Given the description of an element on the screen output the (x, y) to click on. 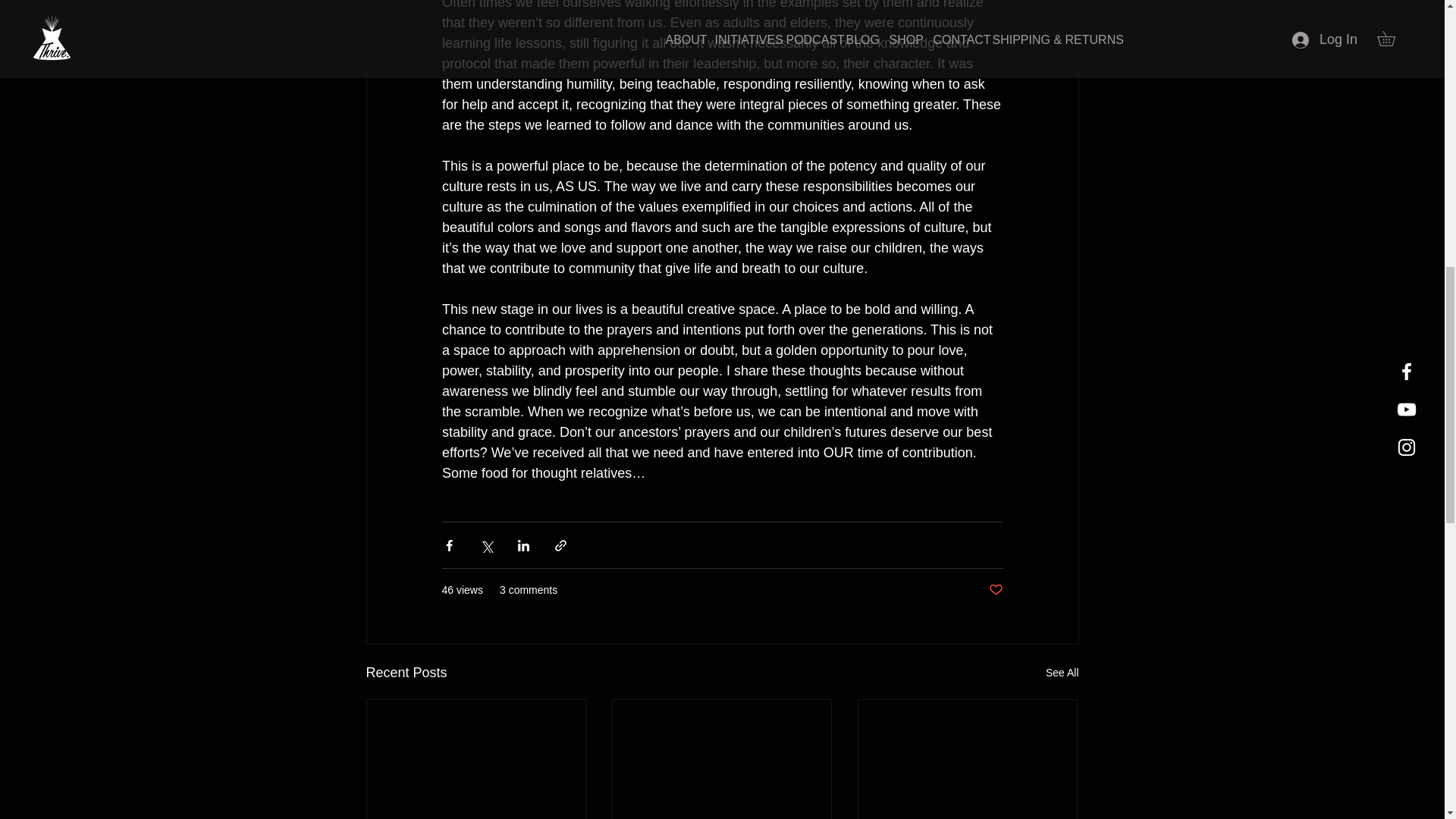
See All (1061, 672)
Post not marked as liked (995, 590)
